Given the description of an element on the screen output the (x, y) to click on. 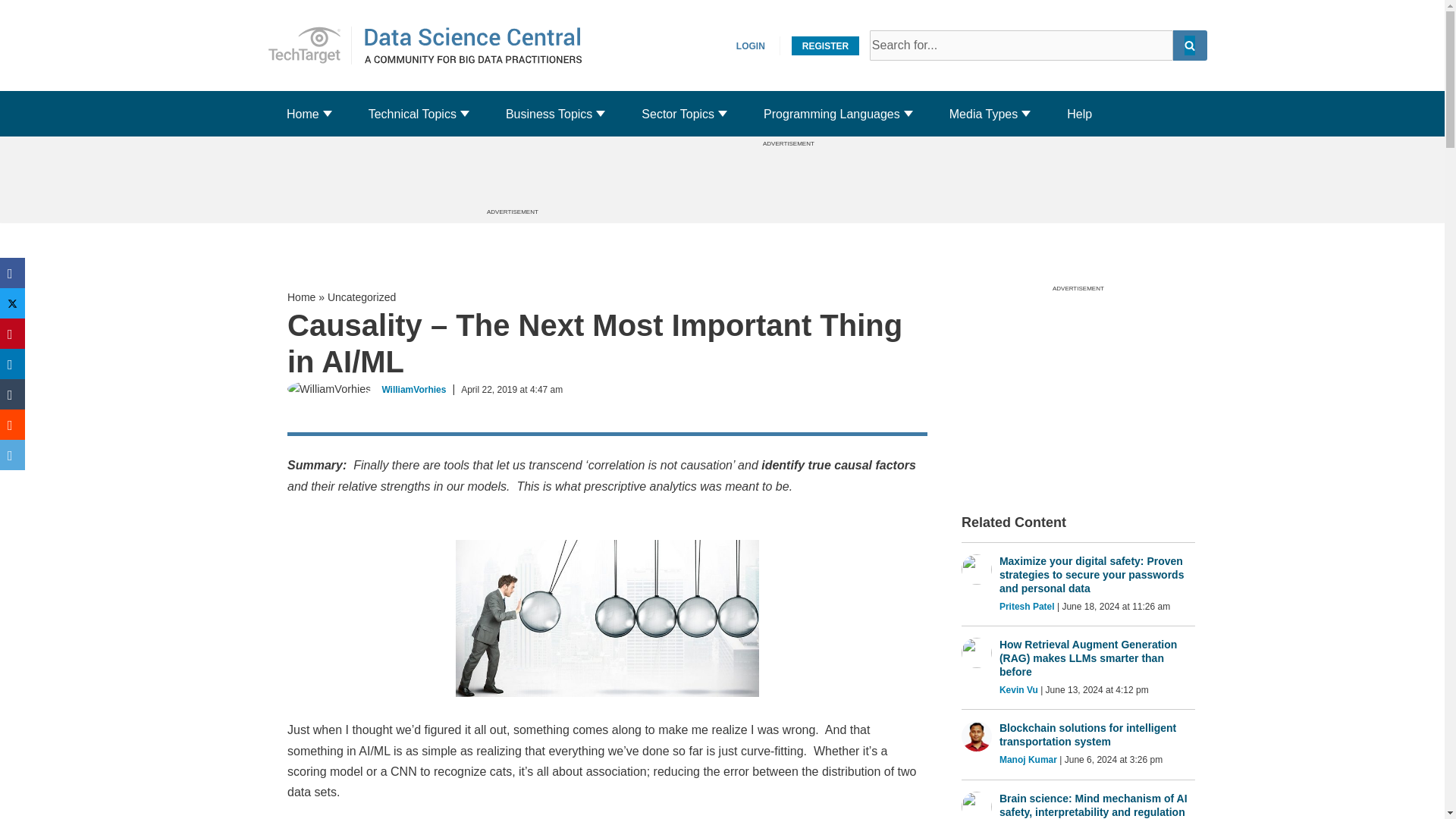
REGISTER (825, 46)
Technical Topics (412, 114)
LOGIN (750, 46)
Posts by WilliamVorhies (413, 389)
3rd party ad content (788, 181)
Home (302, 114)
Blockchain solutions for intelligent transportation system (1096, 734)
Business Topics (548, 114)
3rd party ad content (1077, 385)
Skip to content (309, 45)
